Given the description of an element on the screen output the (x, y) to click on. 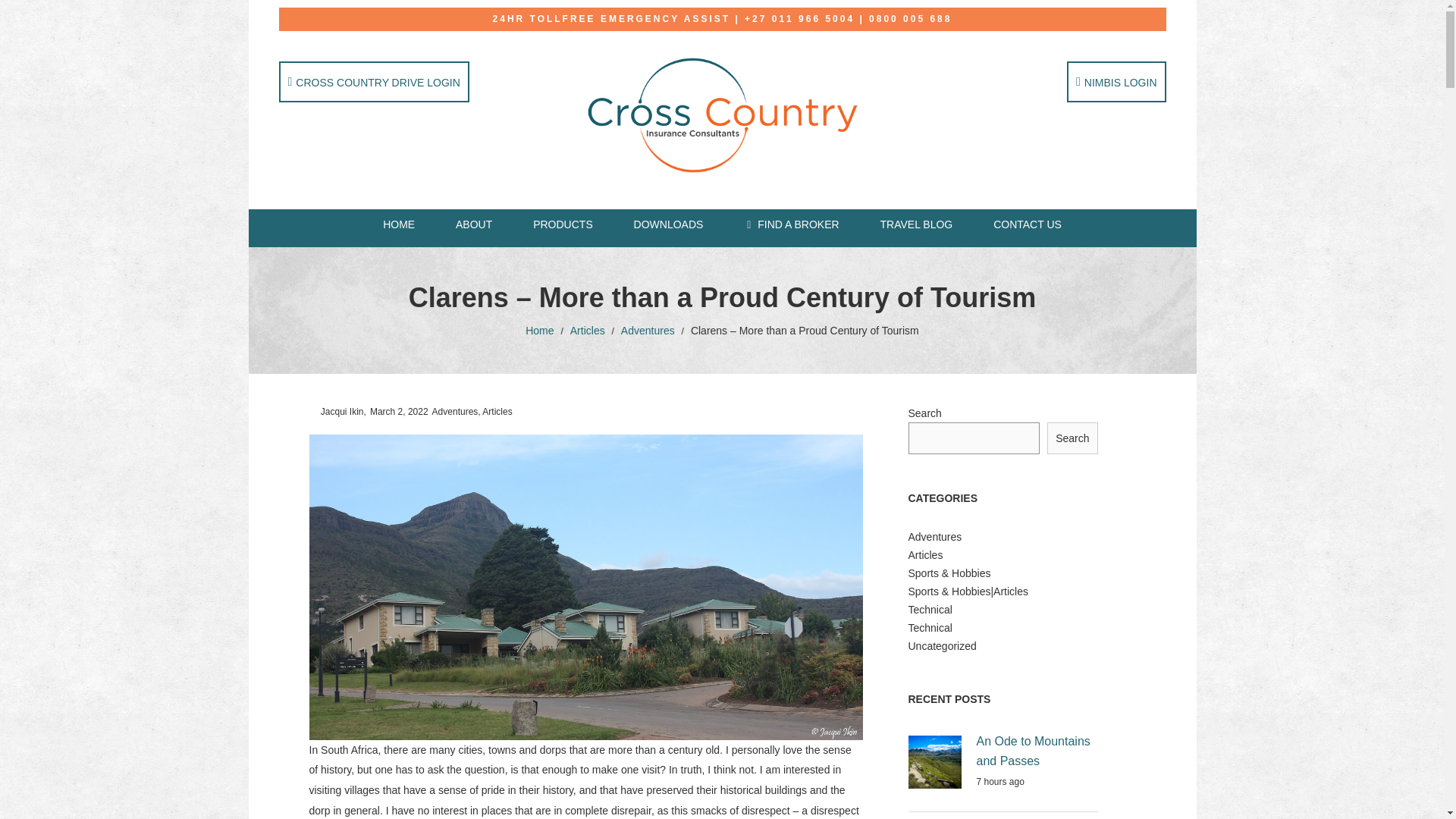
Articles (587, 330)
Home (539, 330)
Adventures (648, 330)
CONTACT US (1027, 224)
NIMBIS LOGIN (1116, 81)
DOWNLOADS (668, 224)
PRODUCTS (562, 224)
ABOUT (473, 224)
FIND A BROKER (791, 224)
HOME (398, 224)
